Given the description of an element on the screen output the (x, y) to click on. 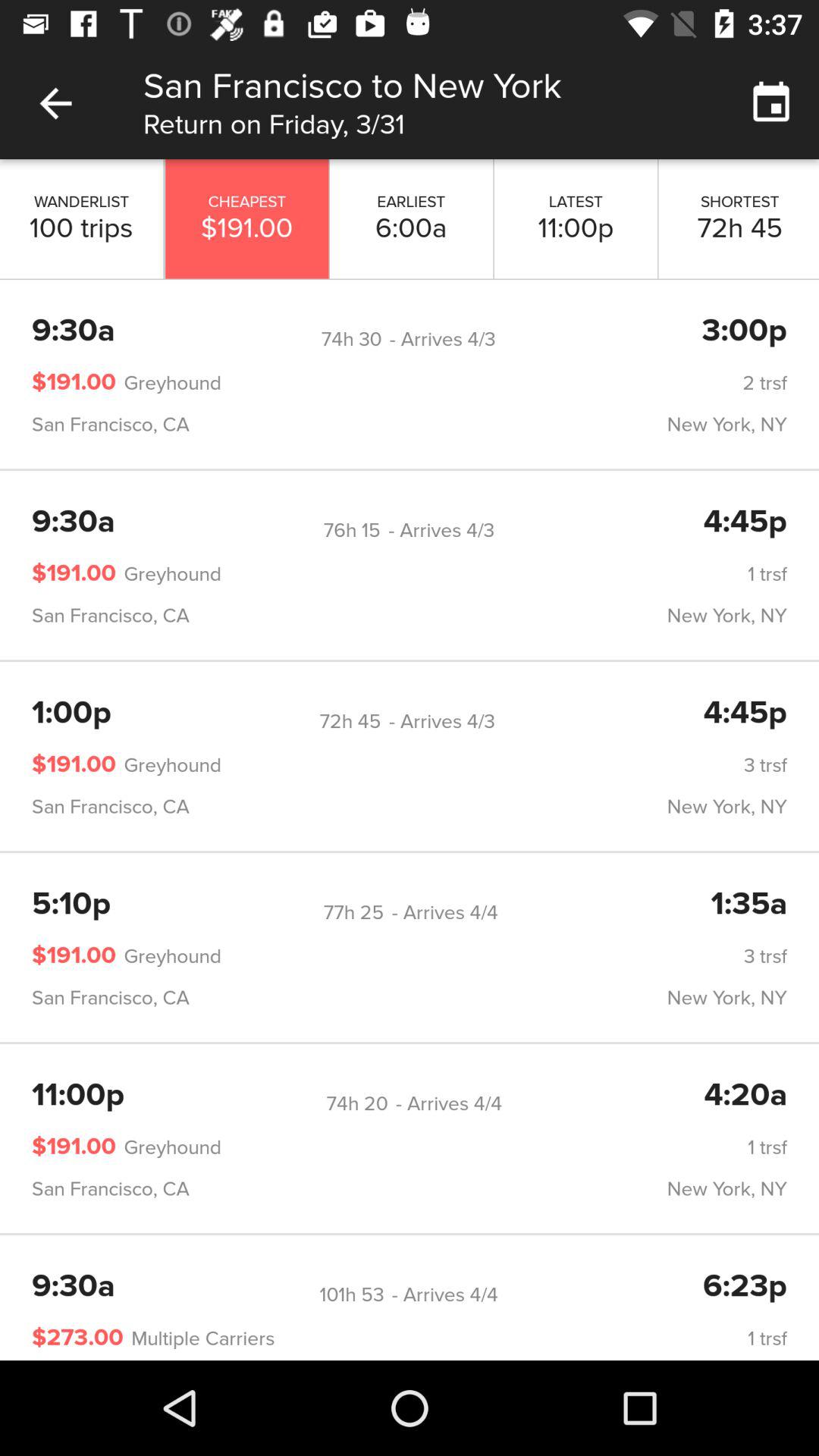
press icon next to the 77h 25 item (70, 904)
